Given the description of an element on the screen output the (x, y) to click on. 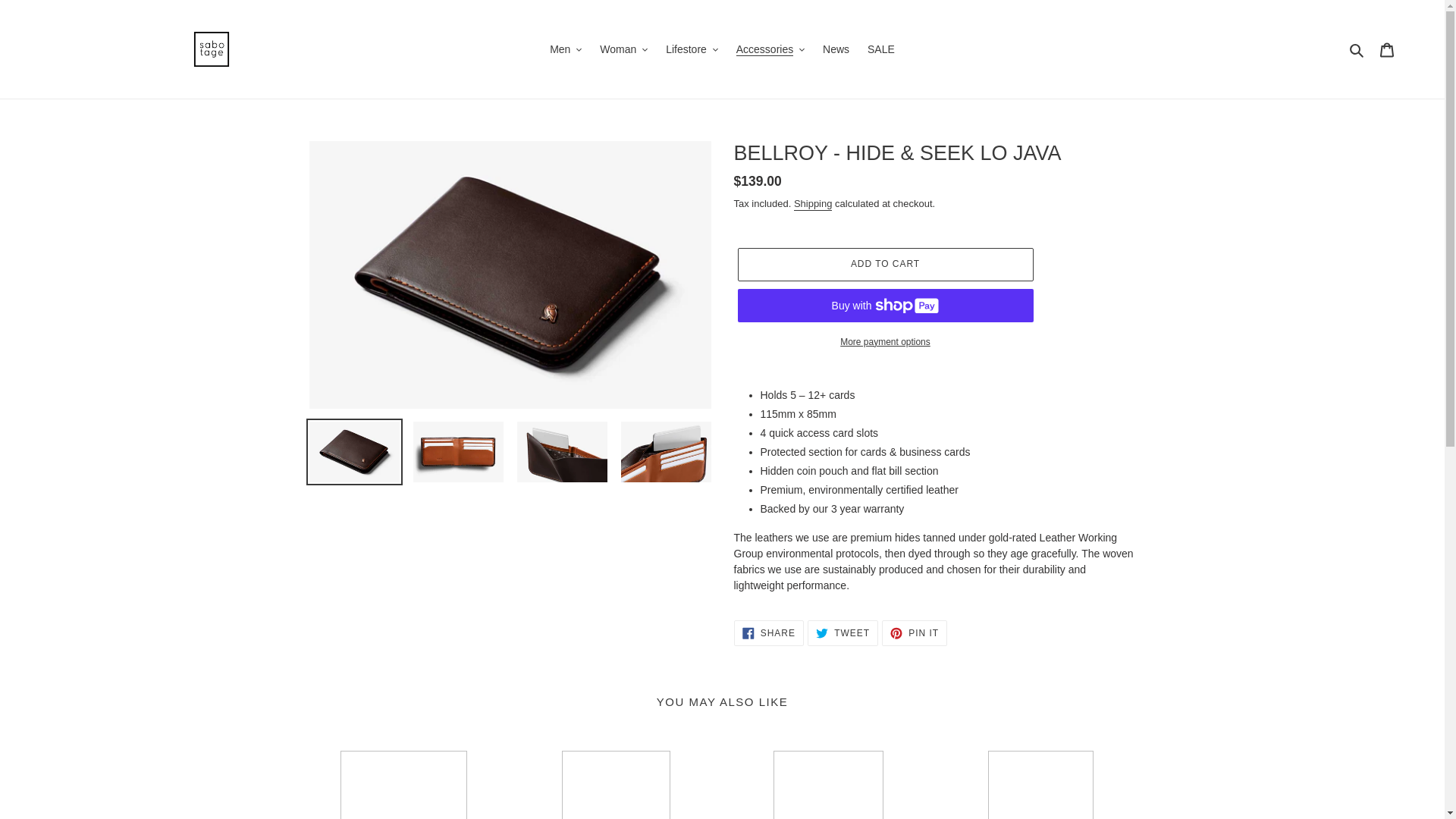
Lifestore (691, 49)
Men (565, 49)
Woman (623, 49)
